Given the description of an element on the screen output the (x, y) to click on. 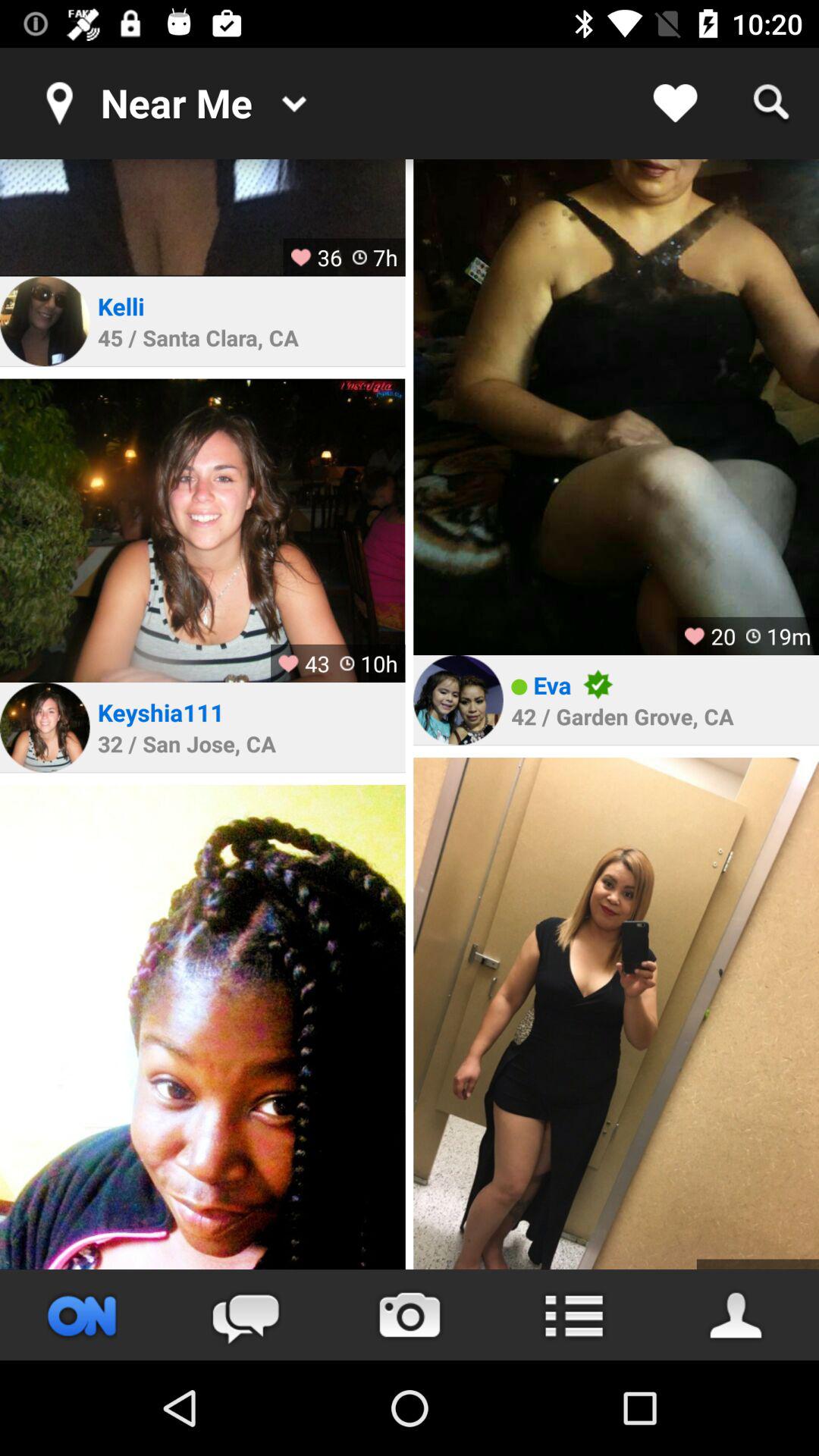
list format (573, 1315)
